Given the description of an element on the screen output the (x, y) to click on. 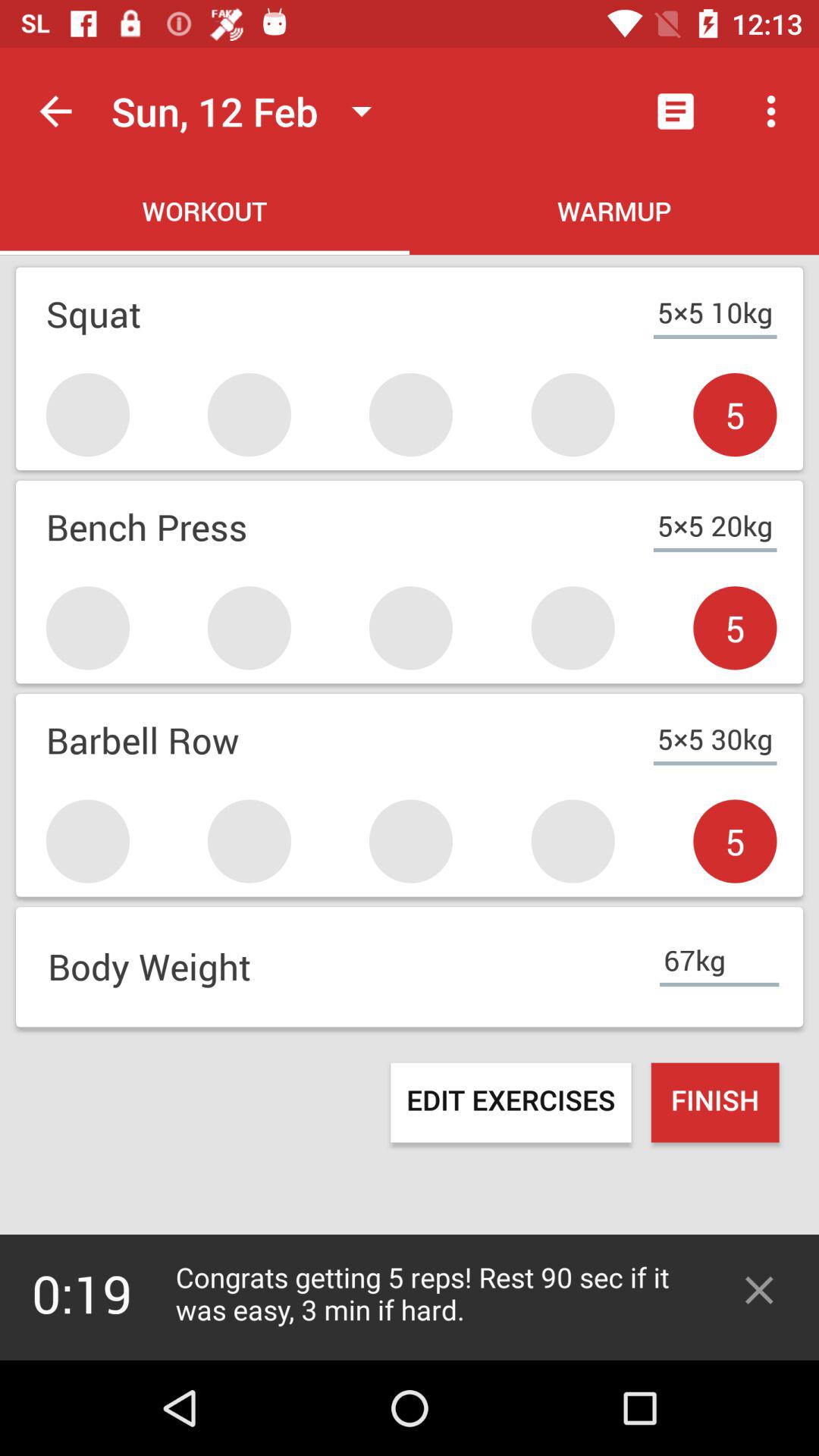
to close the timer (759, 1290)
